Given the description of an element on the screen output the (x, y) to click on. 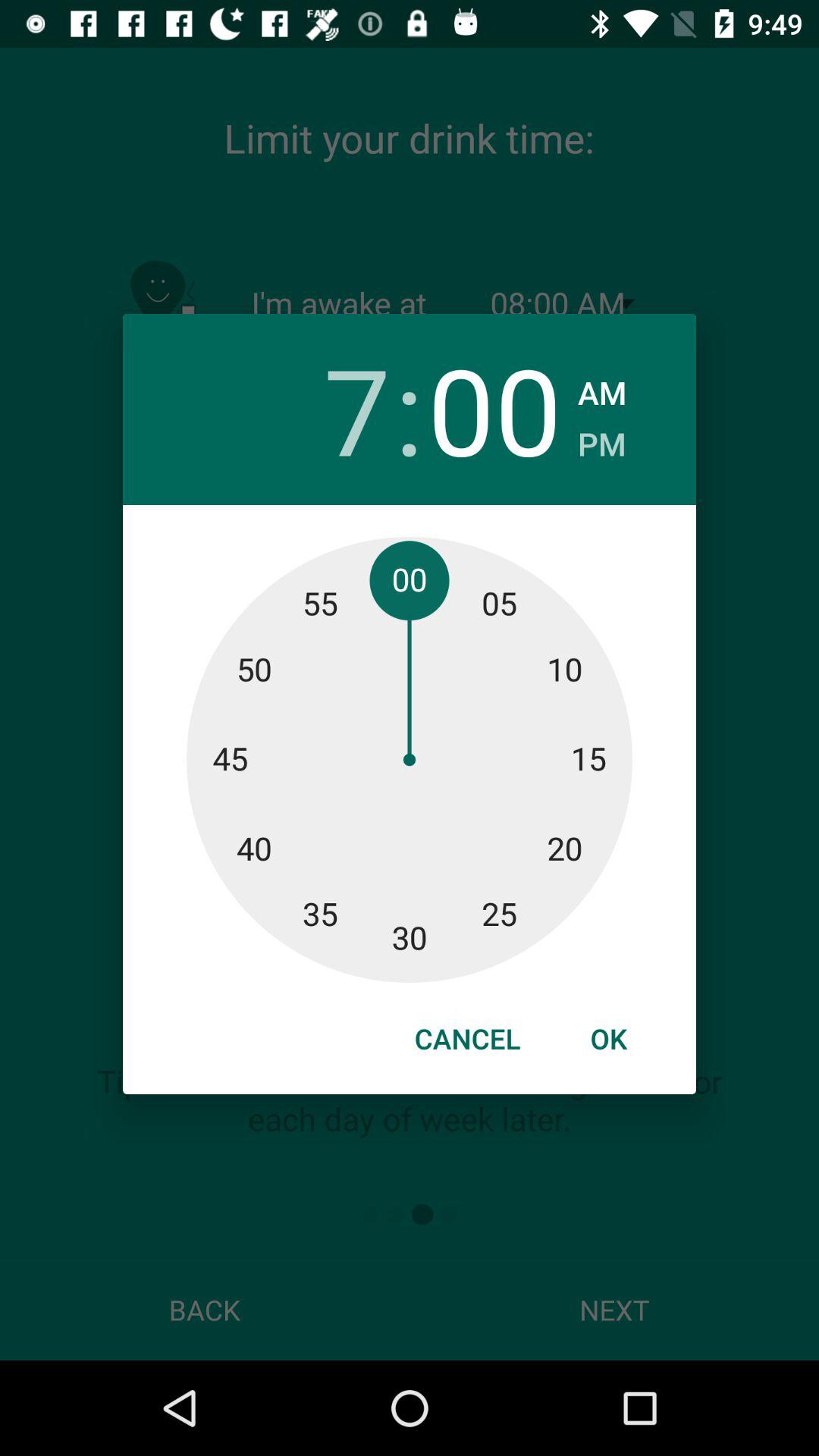
flip until the 7 (323, 408)
